Given the description of an element on the screen output the (x, y) to click on. 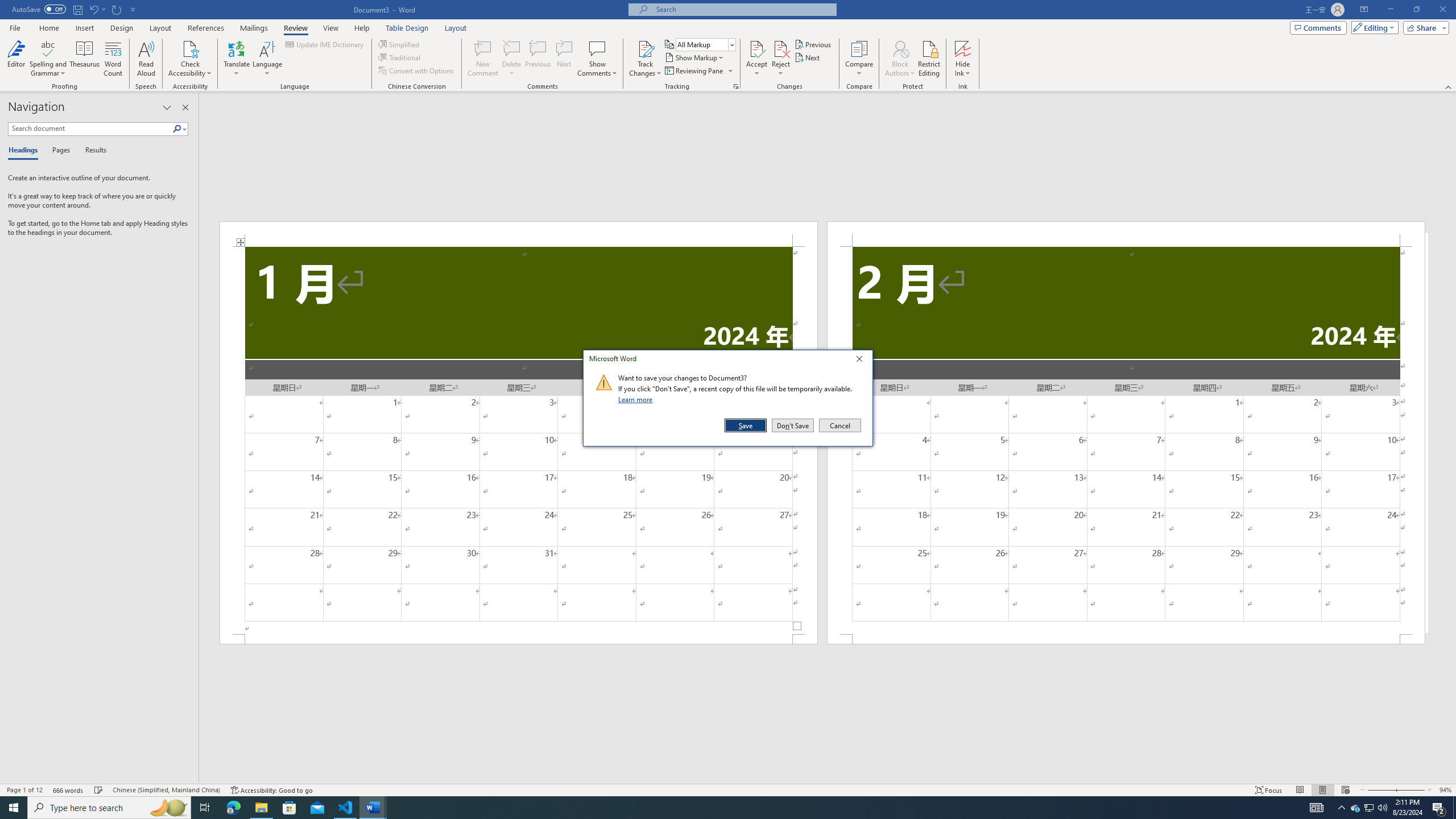
Cancel (839, 425)
Delete (511, 48)
Reviewing Pane (698, 69)
Traditional (400, 56)
Accept (756, 58)
Change Tracking Options... (735, 85)
